Given the description of an element on the screen output the (x, y) to click on. 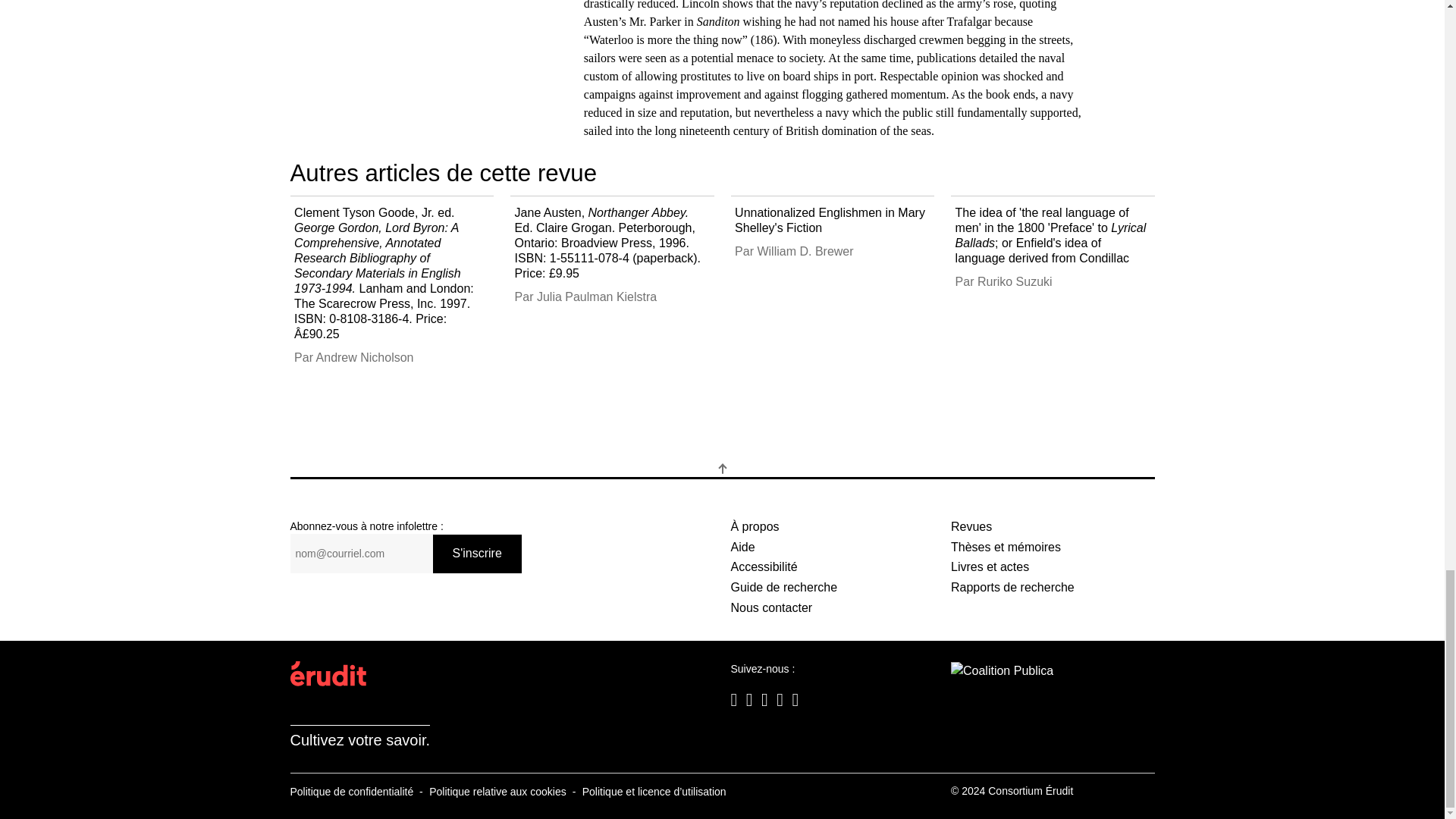
Retourner en haut (721, 468)
S'inscrire (476, 553)
